Given the description of an element on the screen output the (x, y) to click on. 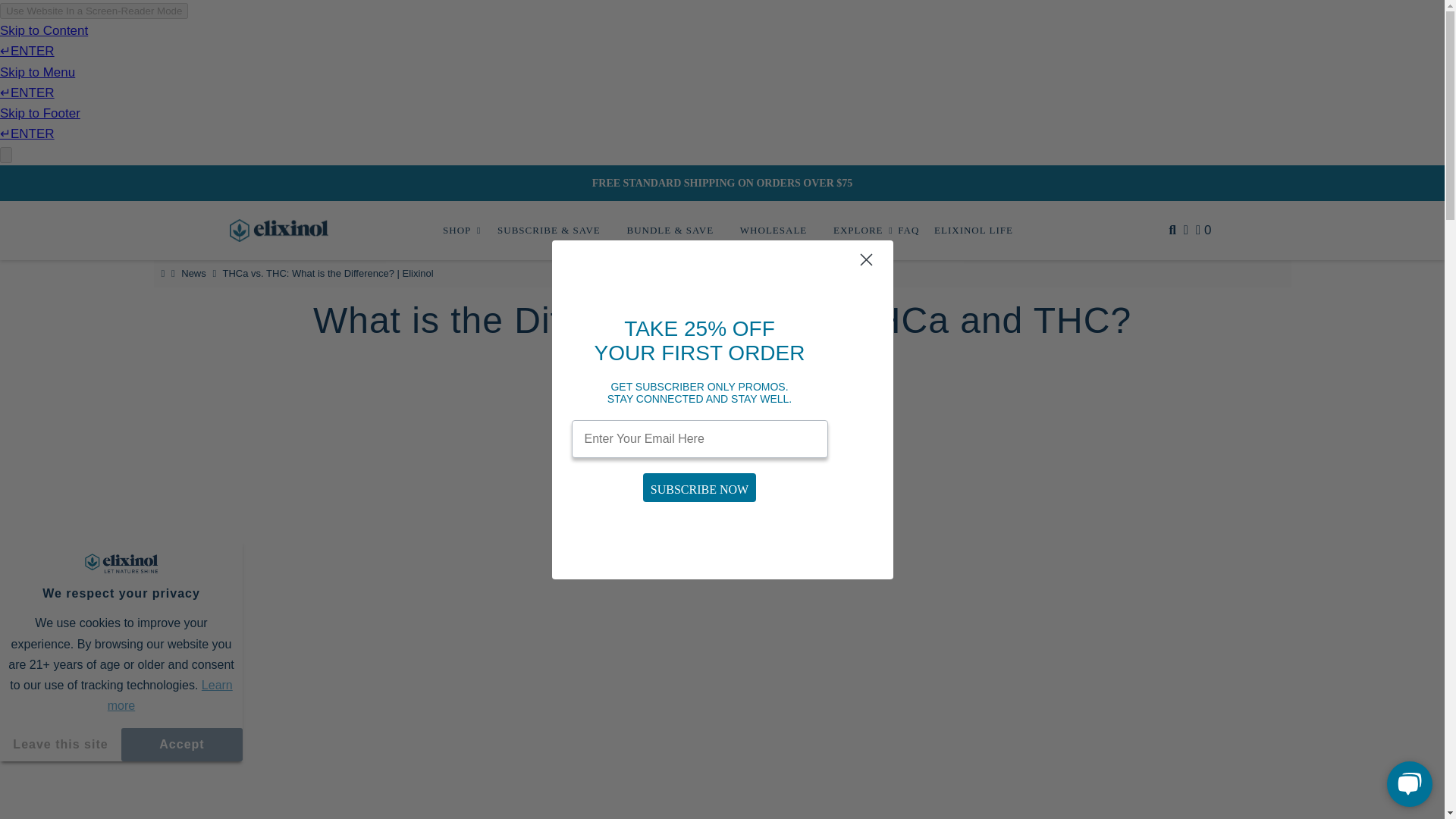
Back to the frontpage (164, 273)
SHOP (455, 230)
ELIXINOL LIFE (968, 230)
FAQ (908, 230)
WHOLESALE (773, 230)
EXPLORE (858, 230)
